Given the description of an element on the screen output the (x, y) to click on. 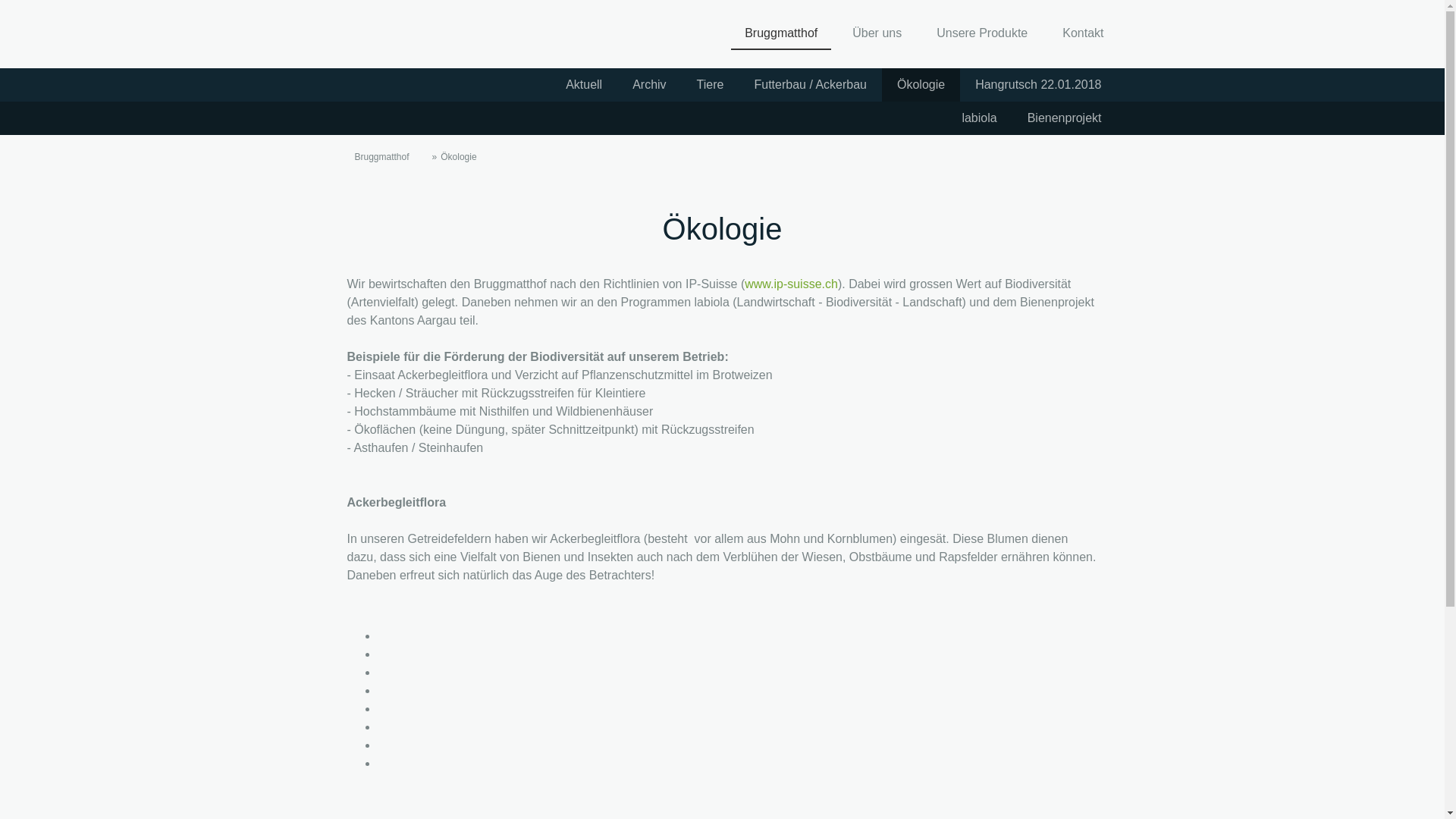
Tiere Element type: text (710, 84)
Unsere Produkte Element type: text (981, 34)
Hangrutsch 22.01.2018 Element type: text (1038, 84)
Kontakt Element type: text (1082, 34)
labiola Element type: text (978, 117)
Bruggmatthof Element type: text (781, 34)
Futterbau / Ackerbau Element type: text (809, 84)
Bienenprojekt Element type: text (1064, 117)
Aktuell Element type: text (583, 84)
www.ip-suisse.ch Element type: text (790, 283)
Archiv Element type: text (648, 84)
Bruggmatthof Element type: text (379, 156)
